Given the description of an element on the screen output the (x, y) to click on. 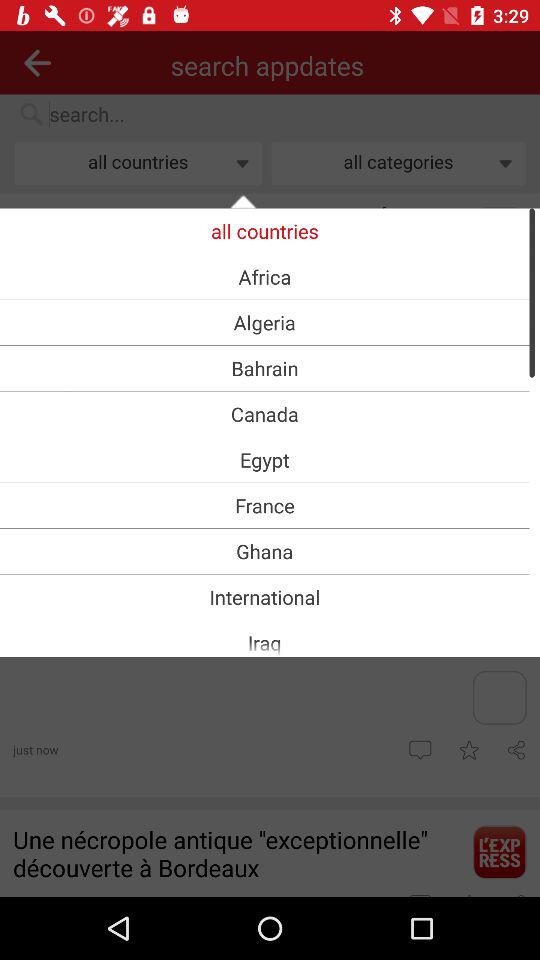
turn on iraq icon (264, 642)
